Given the description of an element on the screen output the (x, y) to click on. 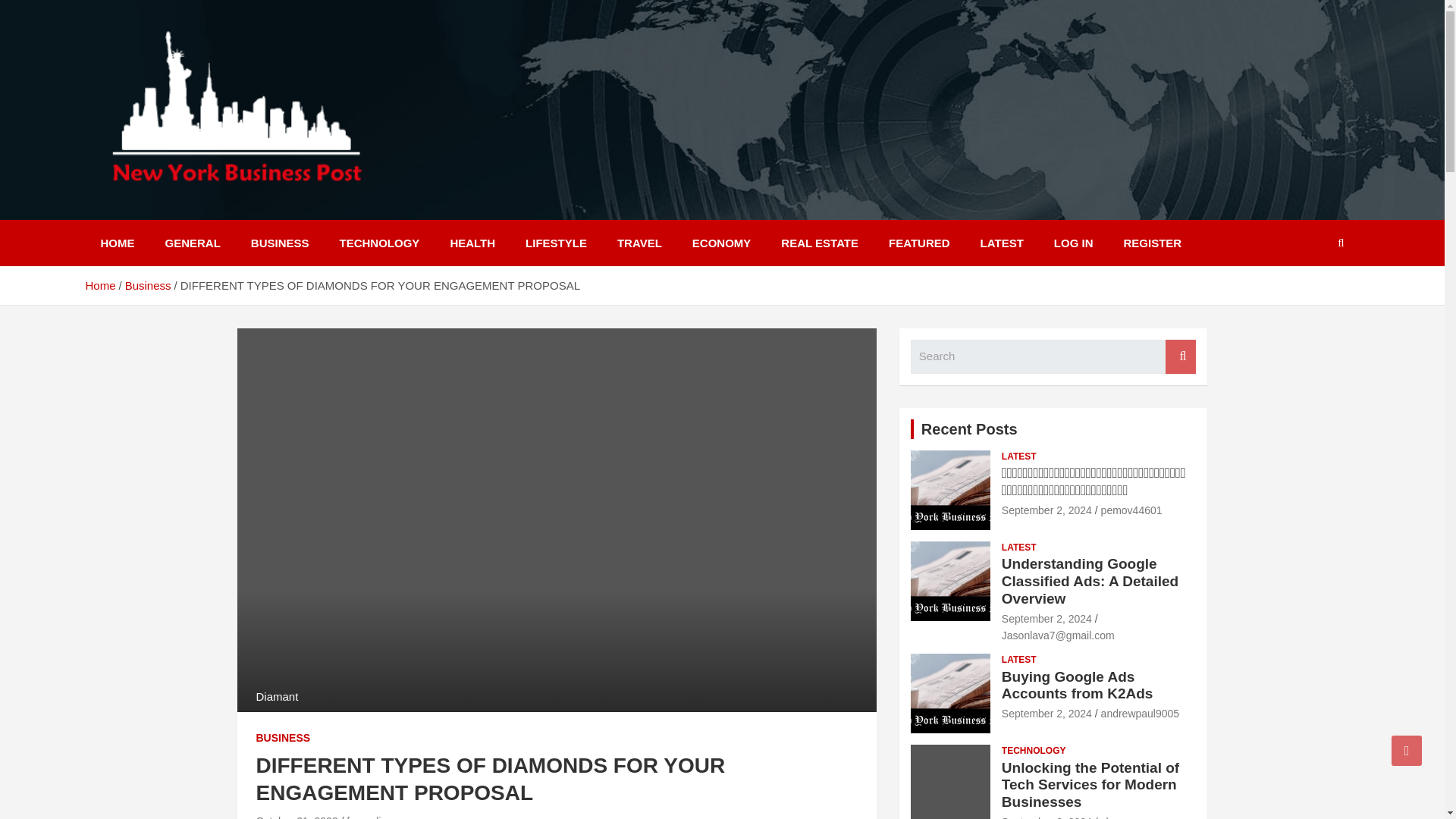
pemov44601 (1130, 510)
FEATURED (919, 243)
TRAVEL (639, 243)
BUSINESS (283, 738)
Business (148, 285)
DIFFERENT TYPES OF DIAMONDS FOR YOUR ENGAGEMENT PROPOSAL (296, 816)
LATEST (1002, 243)
ECONOMY (722, 243)
REAL ESTATE (819, 243)
HOME (116, 243)
